Given the description of an element on the screen output the (x, y) to click on. 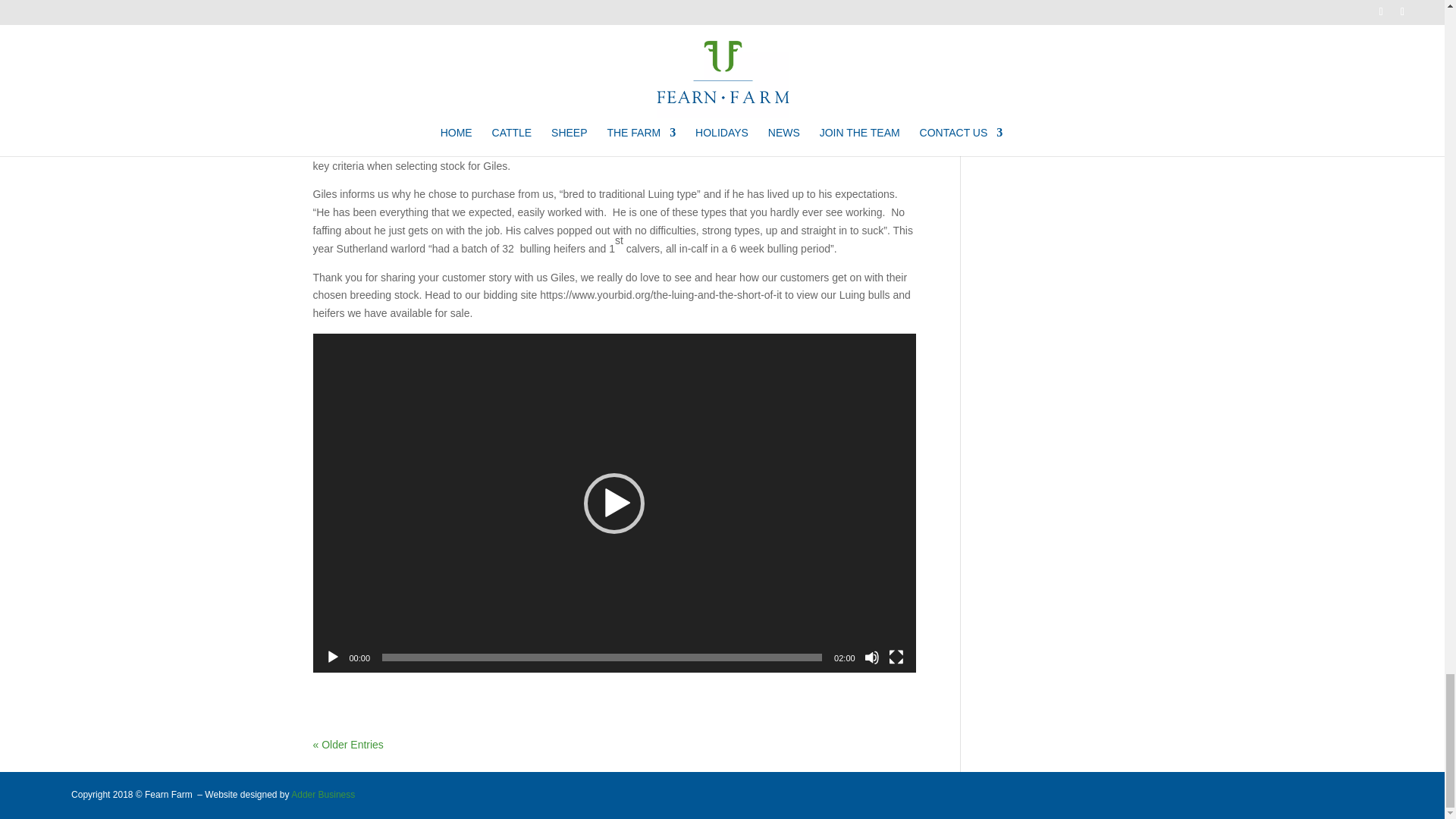
Posts by Abbie (339, 4)
Mute (871, 657)
Play (331, 657)
Fullscreen (896, 657)
